Given the description of an element on the screen output the (x, y) to click on. 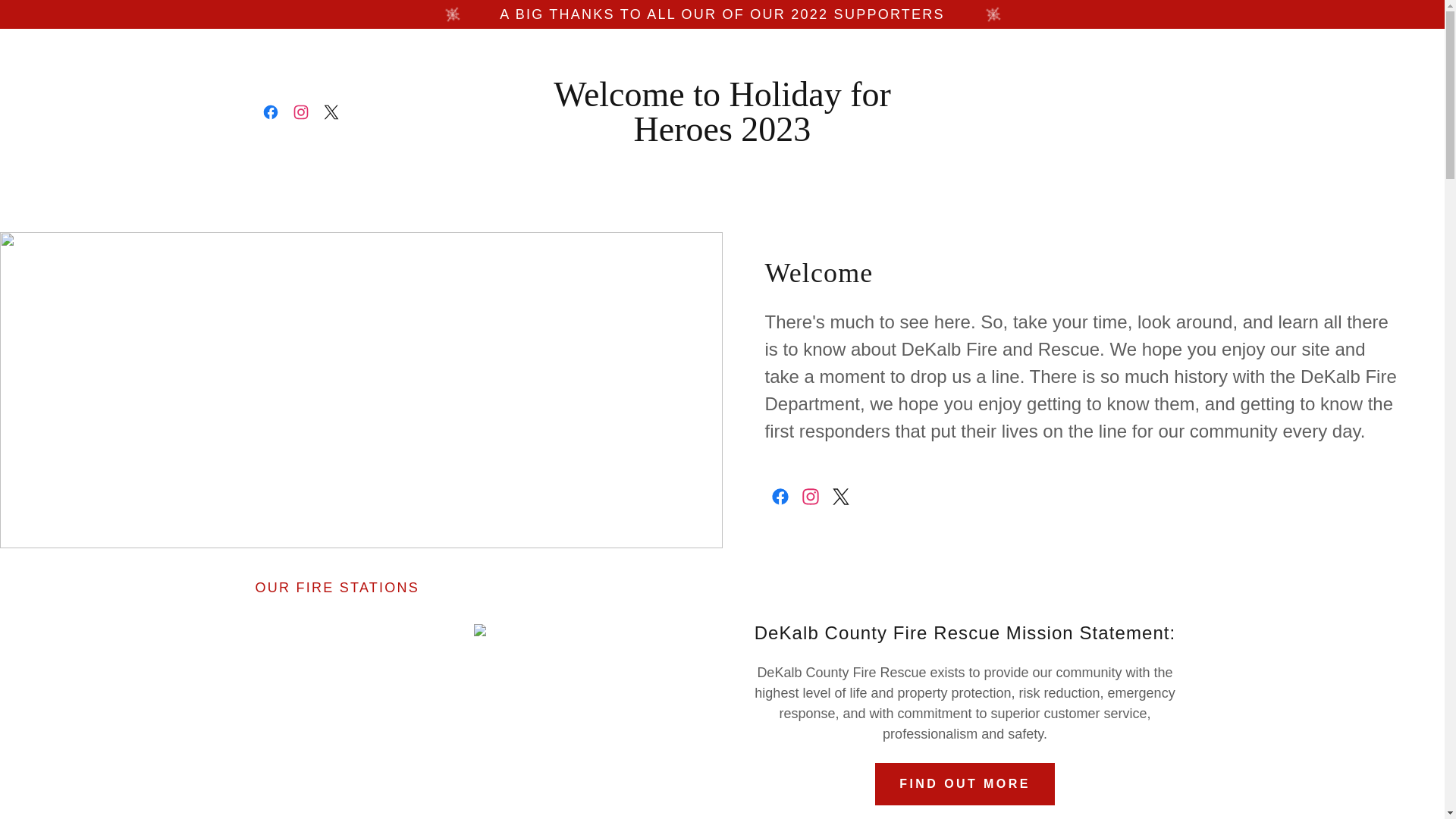
Welcome to Holiday for Heroes 2023 (721, 136)
FIND OUT MORE (964, 783)
Welcome to Holiday for Heroes 2023 (721, 136)
